Given the description of an element on the screen output the (x, y) to click on. 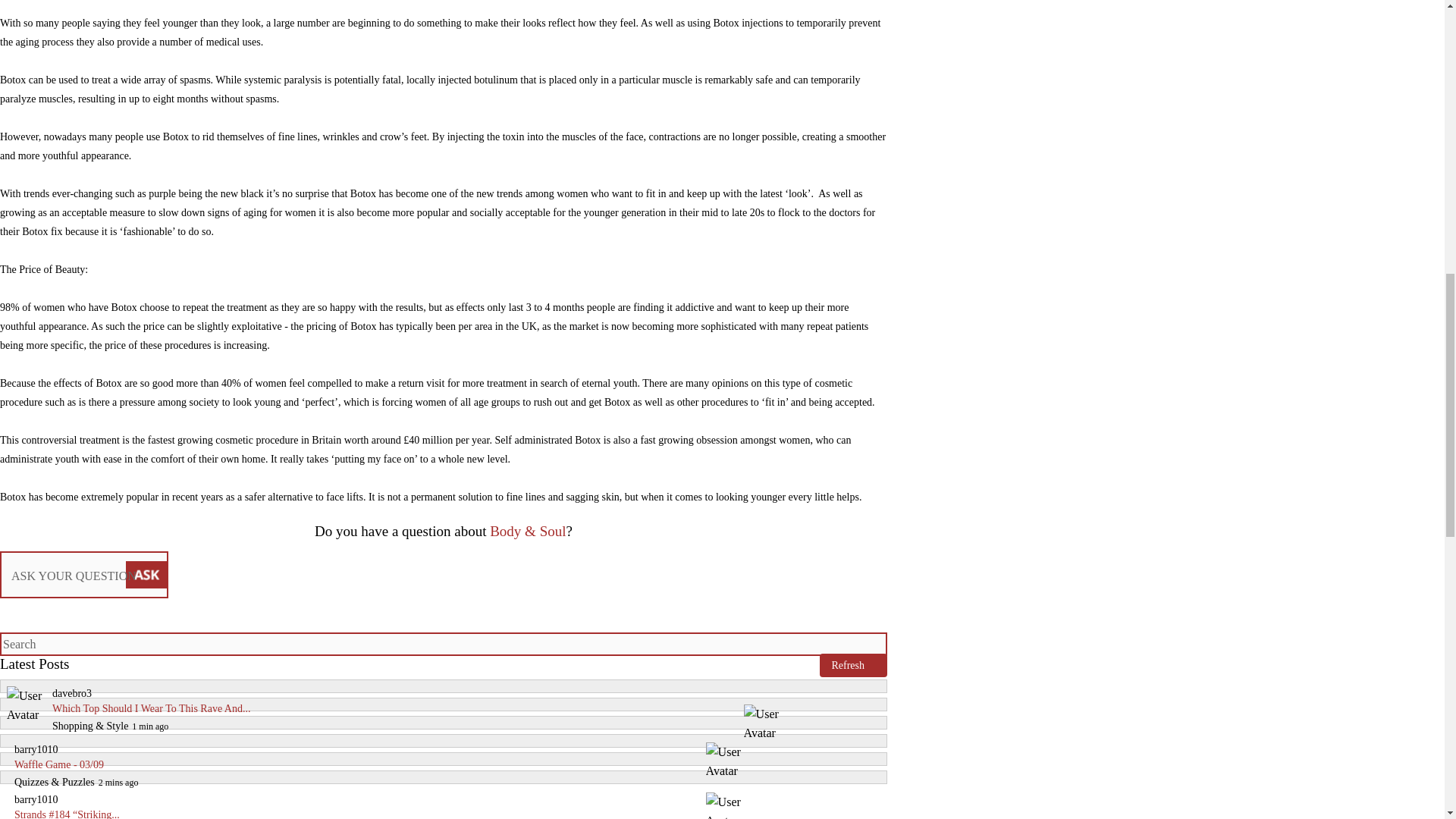
GO (866, 642)
Click here to reload the list! (852, 665)
GO (866, 642)
